Given the description of an element on the screen output the (x, y) to click on. 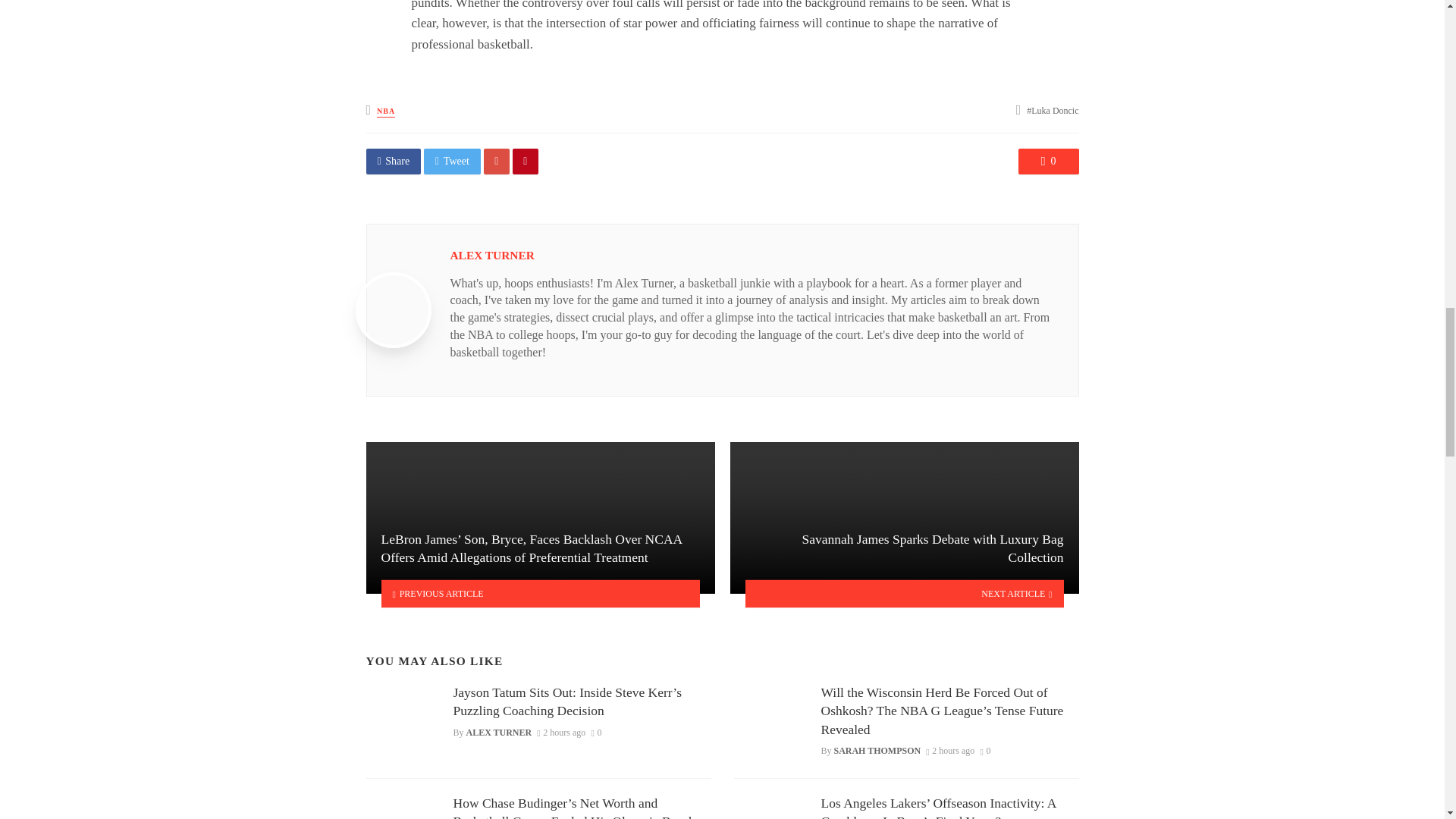
Tweet (451, 161)
Share on Facebook (392, 161)
Luka Doncic (1052, 110)
0 Comments (1047, 161)
Share on Pinterest (525, 161)
Posts by Alex Turner (491, 254)
PREVIOUS ARTICLE (539, 593)
ALEX TURNER (491, 254)
0 Comments (596, 732)
July 31, 2024 at 7:35 am (561, 732)
NBA (385, 111)
Share on Twitter (451, 161)
Share (392, 161)
NEXT ARTICLE (903, 593)
0 (1047, 161)
